Given the description of an element on the screen output the (x, y) to click on. 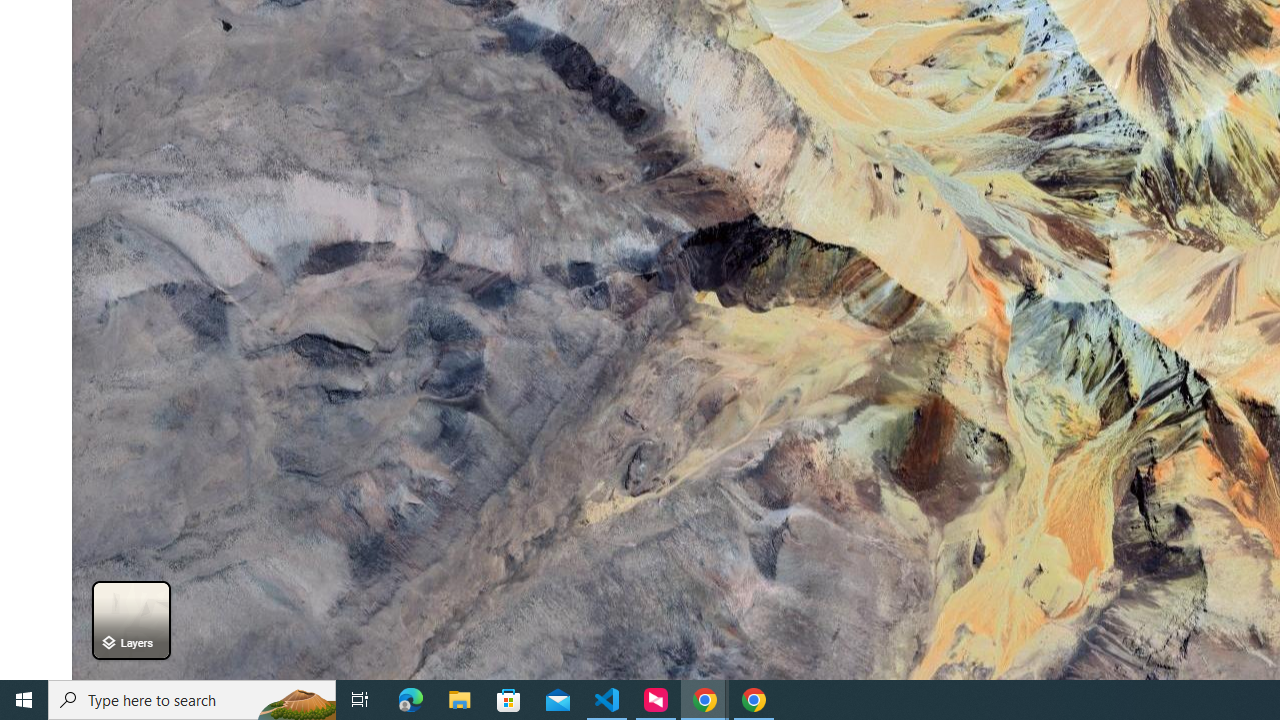
Layers (130, 620)
